Given the description of an element on the screen output the (x, y) to click on. 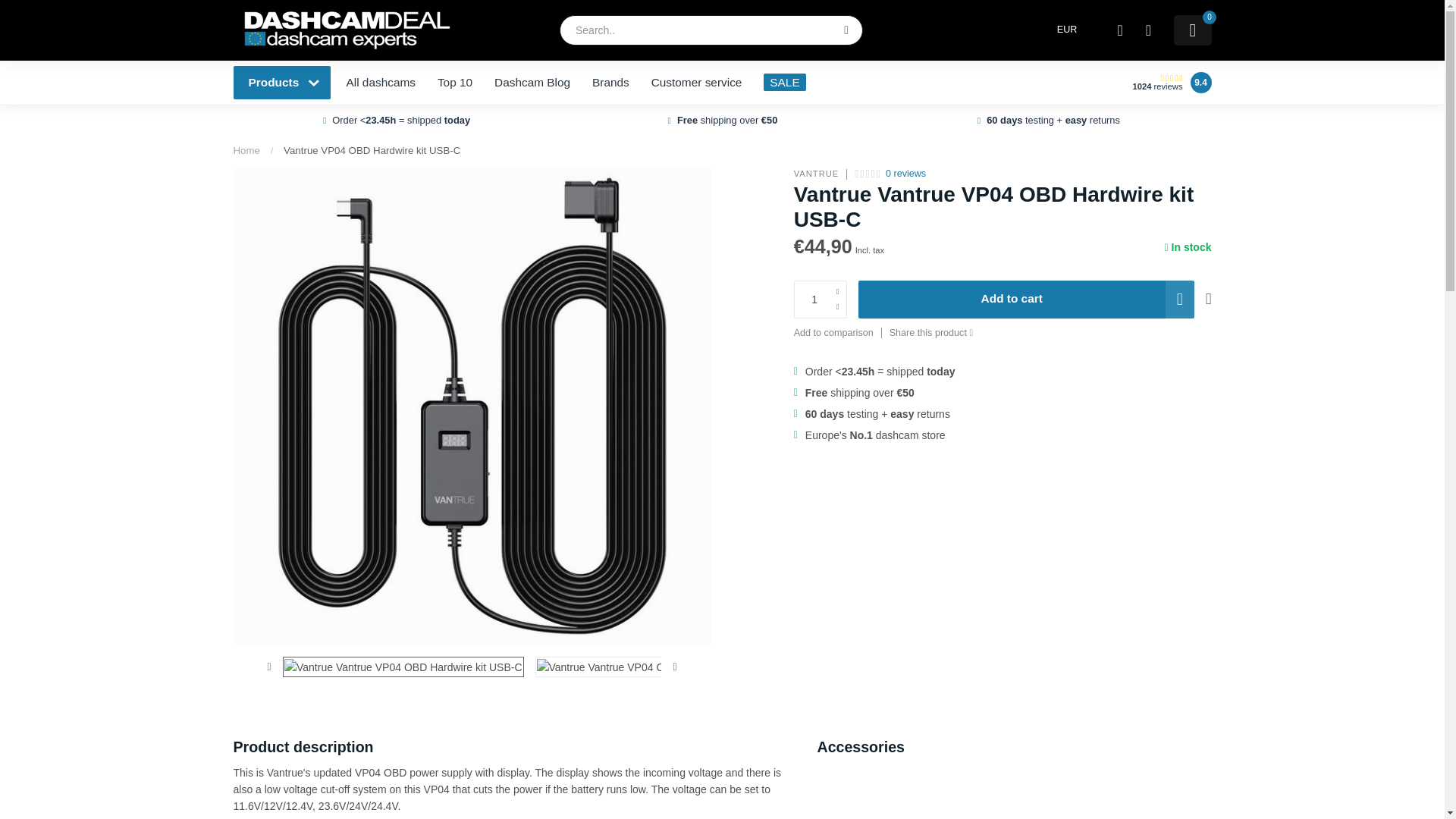
9.4 (1201, 82)
Home (246, 150)
Home (246, 150)
Top 10 (454, 82)
Customer service (696, 82)
0 (1192, 30)
Brands (610, 82)
All dashcams (380, 82)
Dashcam Blog (532, 82)
SALE (783, 81)
1 (820, 299)
